Given the description of an element on the screen output the (x, y) to click on. 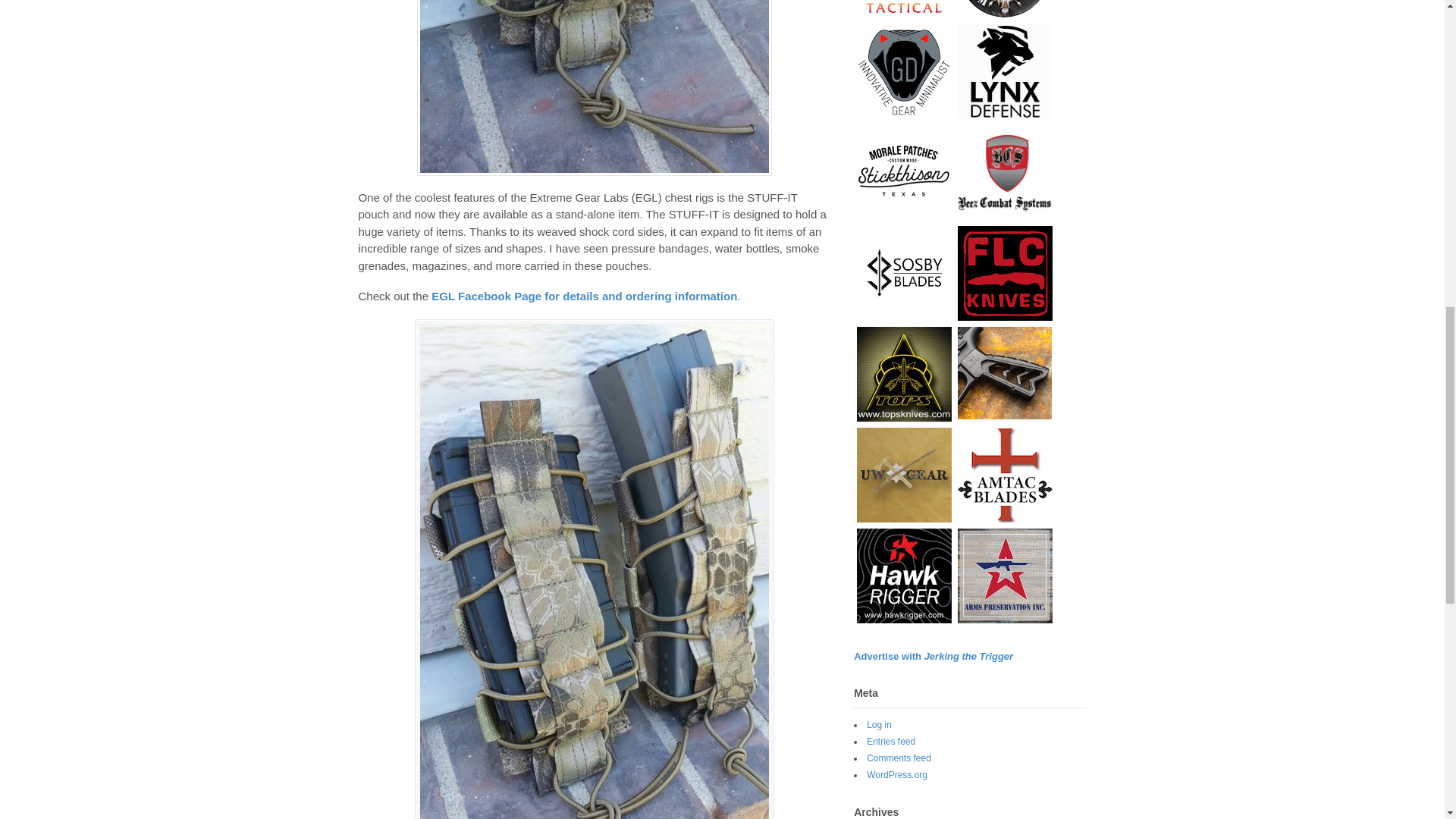
EGL Facebook Page for details and ordering information (583, 295)
